Given the description of an element on the screen output the (x, y) to click on. 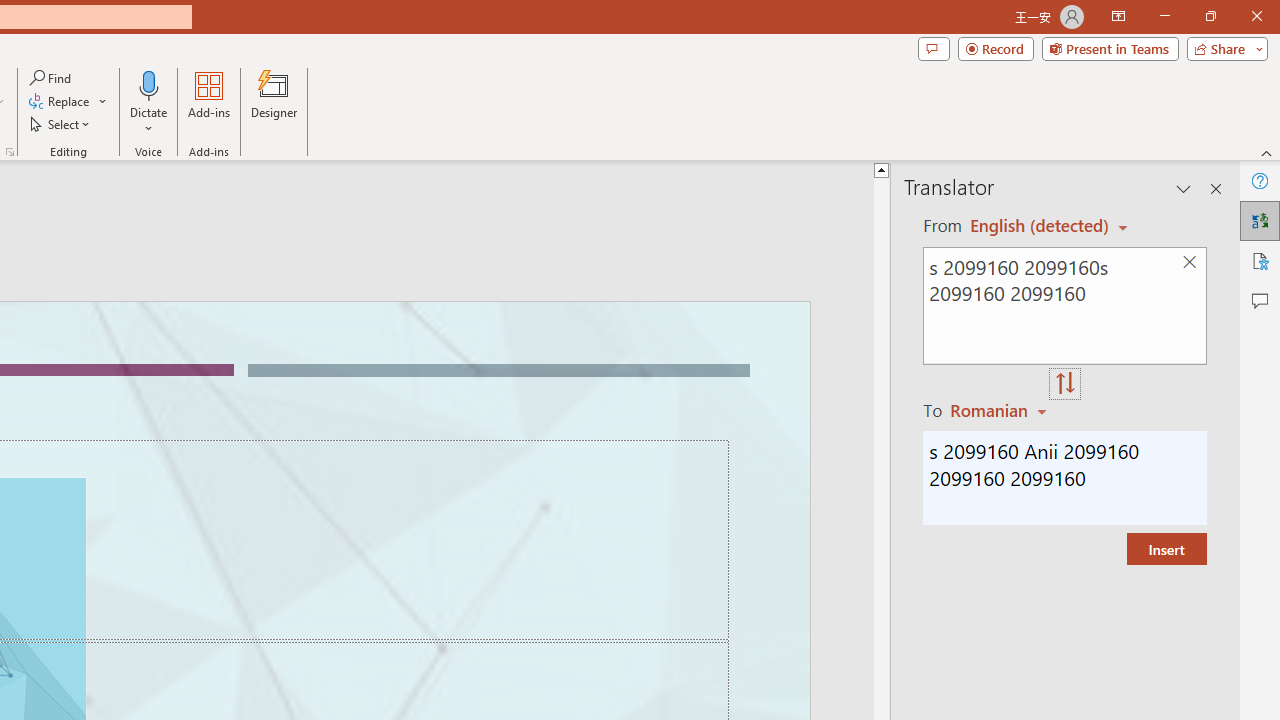
Clear text (1189, 262)
